Given the description of an element on the screen output the (x, y) to click on. 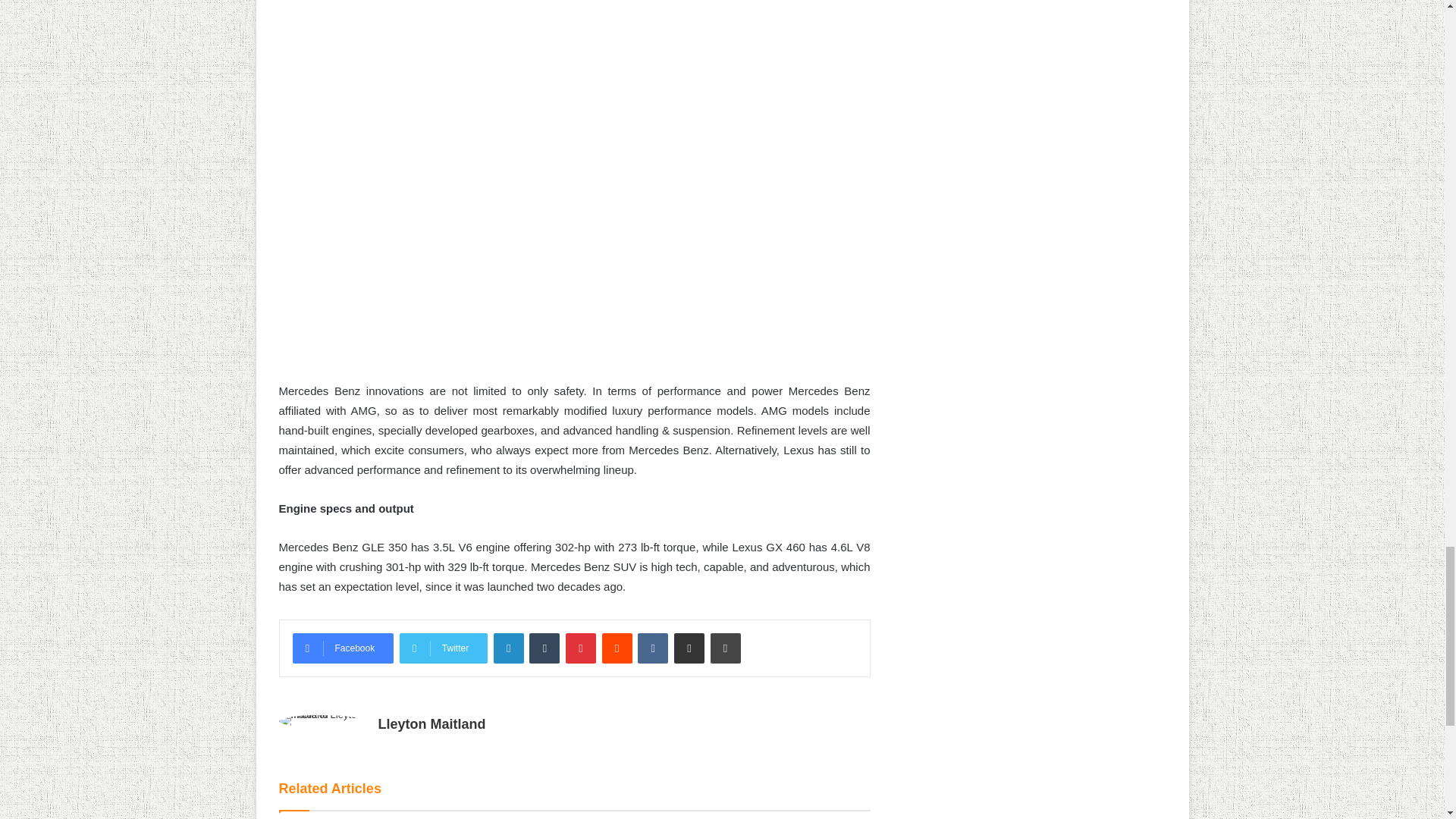
Reddit (616, 648)
Tumblr (544, 648)
LinkedIn (508, 648)
Twitter (442, 648)
VKontakte (652, 648)
Facebook (343, 648)
Pinterest (580, 648)
Lleyton Maitland (430, 724)
Facebook (343, 648)
VKontakte (652, 648)
LinkedIn (508, 648)
Pinterest (580, 648)
Share via Email (689, 648)
Print (725, 648)
Tumblr (544, 648)
